Given the description of an element on the screen output the (x, y) to click on. 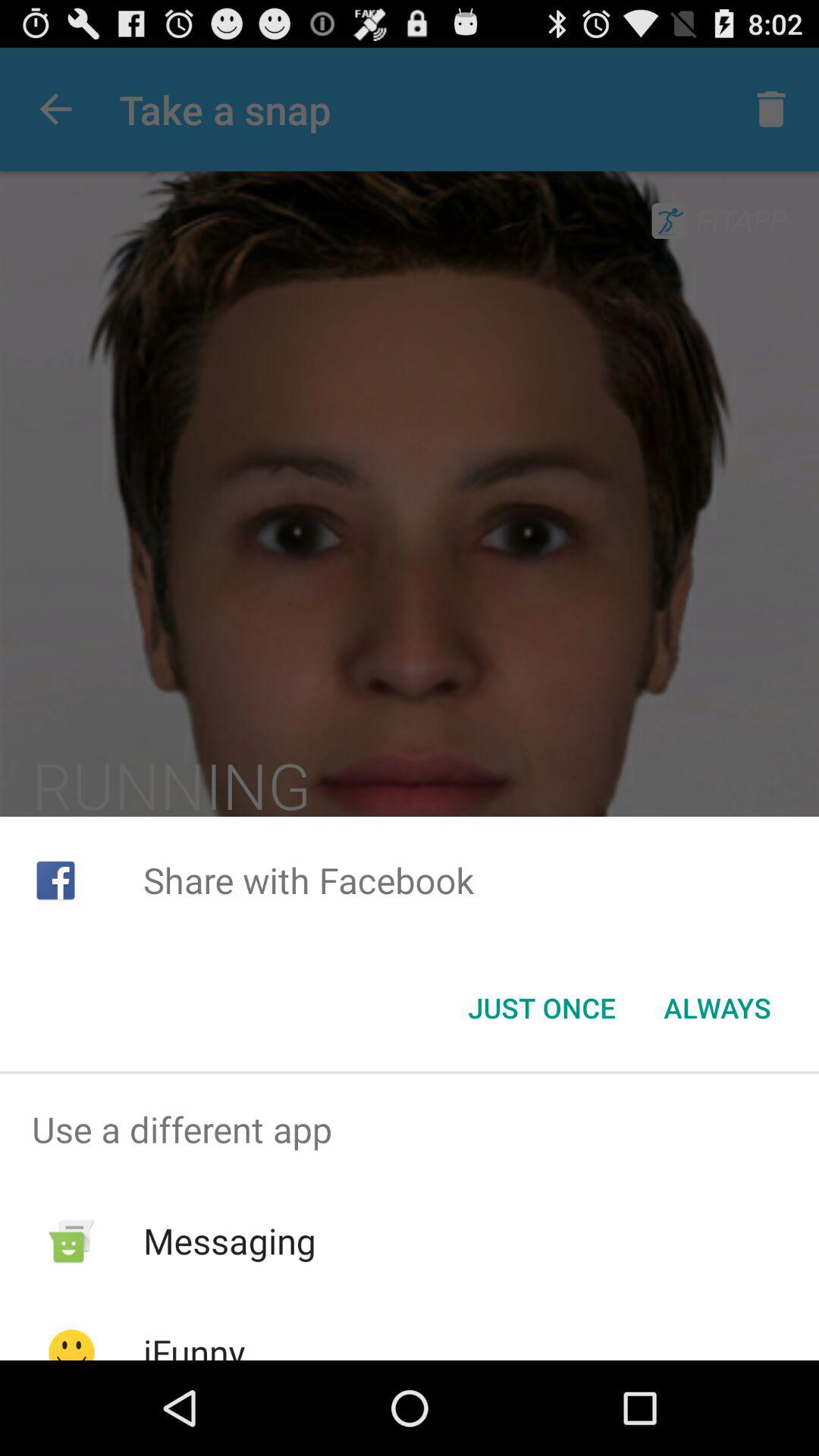
click icon to the right of the just once icon (717, 1007)
